Given the description of an element on the screen output the (x, y) to click on. 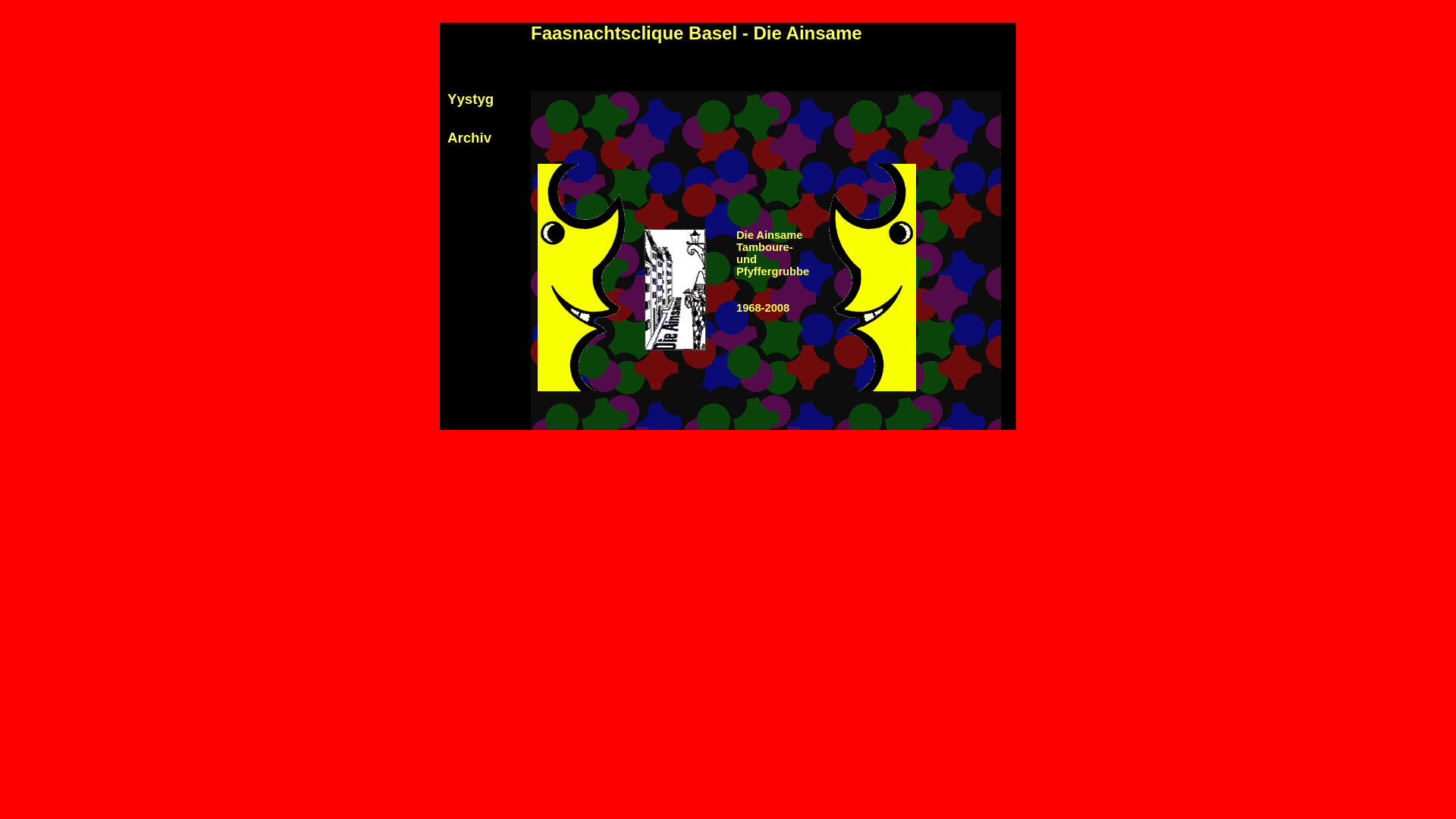
Yystyg Element type: text (470, 98)
Archiv Element type: text (469, 137)
